Given the description of an element on the screen output the (x, y) to click on. 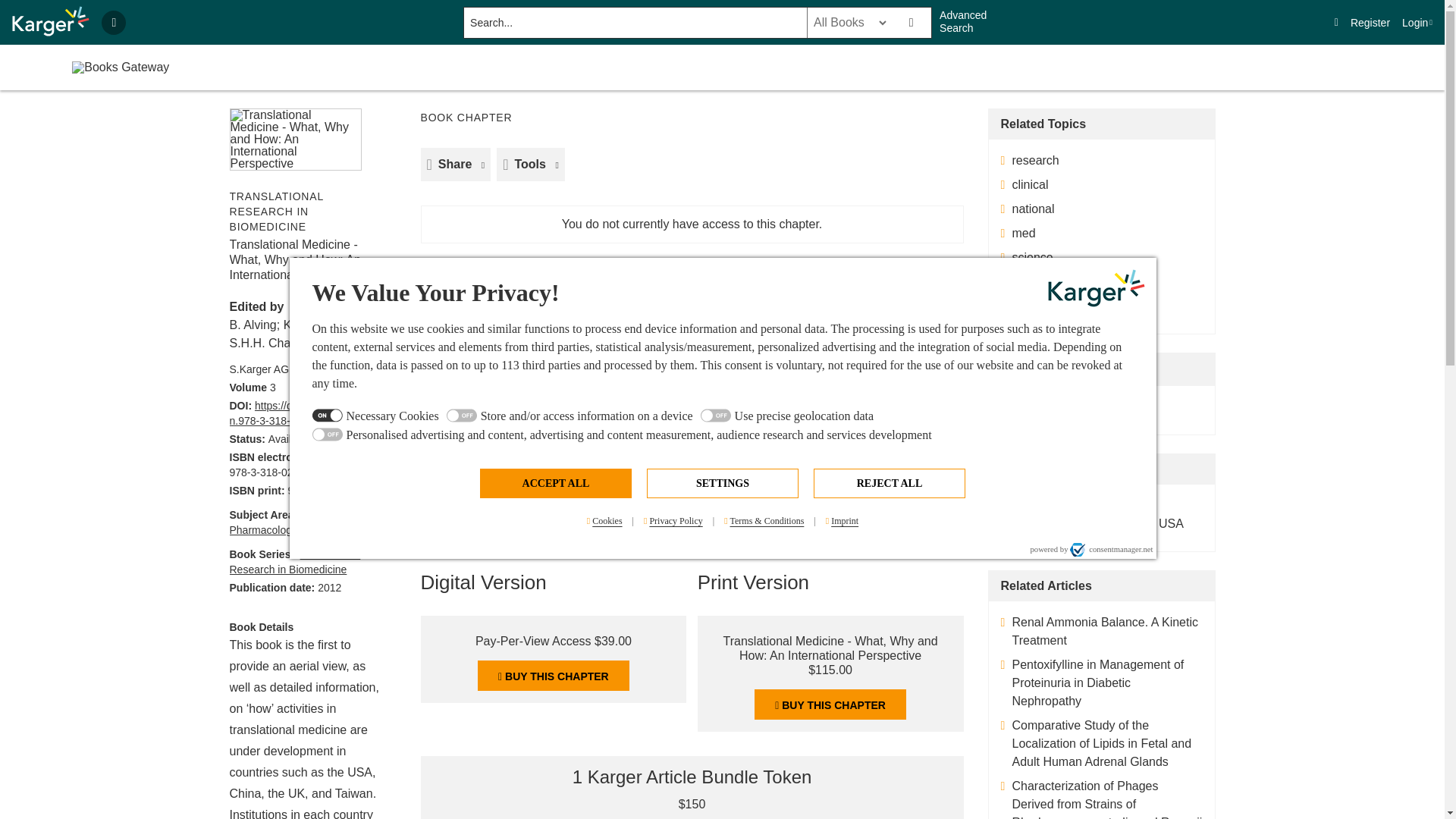
search input (633, 22)
ACCEPT ALL (555, 482)
SETTINGS (721, 482)
Privacy Policy (673, 521)
Cookies (604, 521)
Imprint (842, 521)
REJECT ALL (889, 482)
Purpose (723, 426)
consentmanager.net (1111, 549)
